Given the description of an element on the screen output the (x, y) to click on. 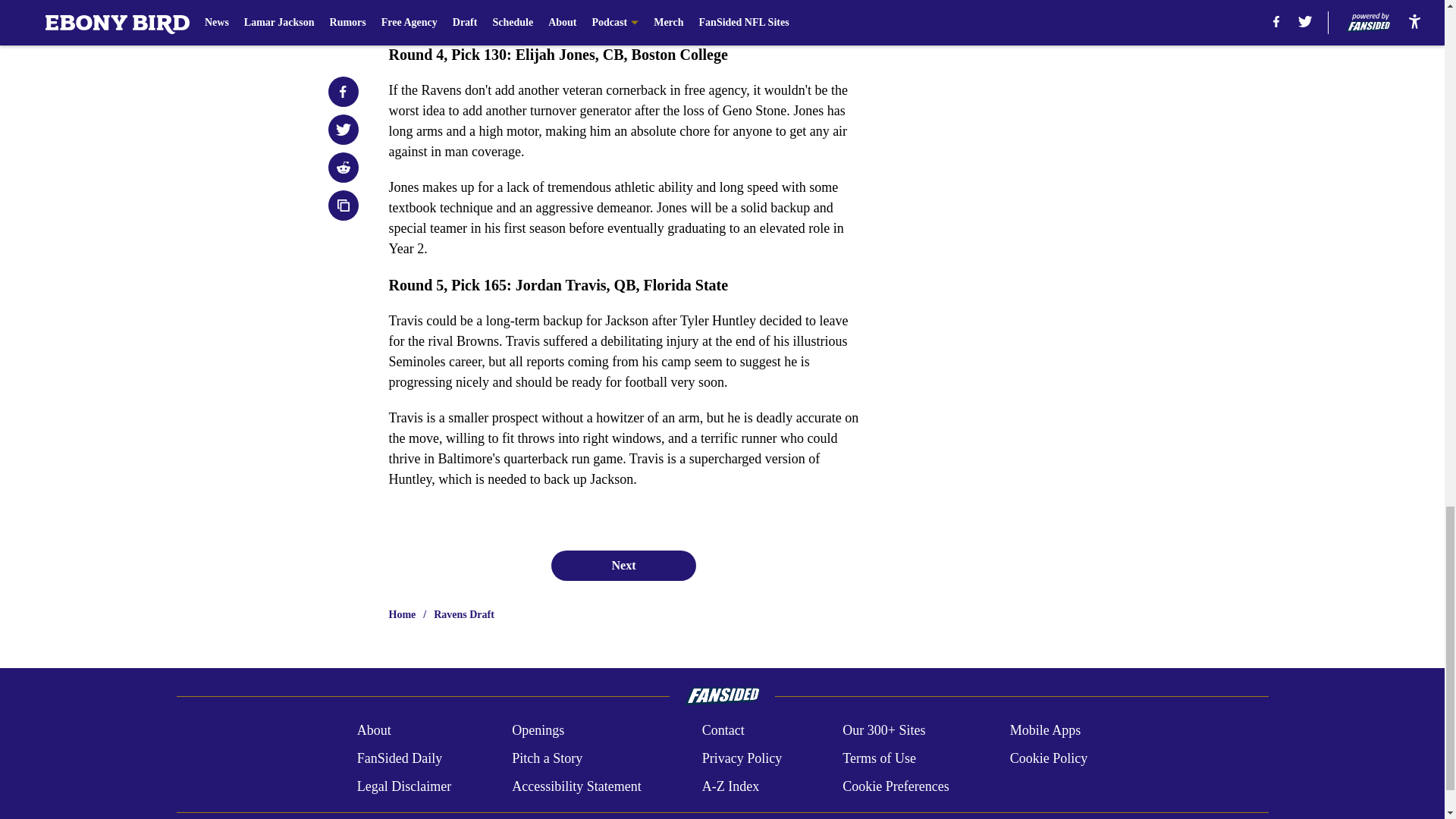
Pitch a Story (547, 758)
About (373, 730)
Openings (538, 730)
Next (622, 565)
Contact (722, 730)
Mobile Apps (1045, 730)
Home (401, 614)
Ravens Draft (464, 614)
FanSided Daily (399, 758)
